Given the description of an element on the screen output the (x, y) to click on. 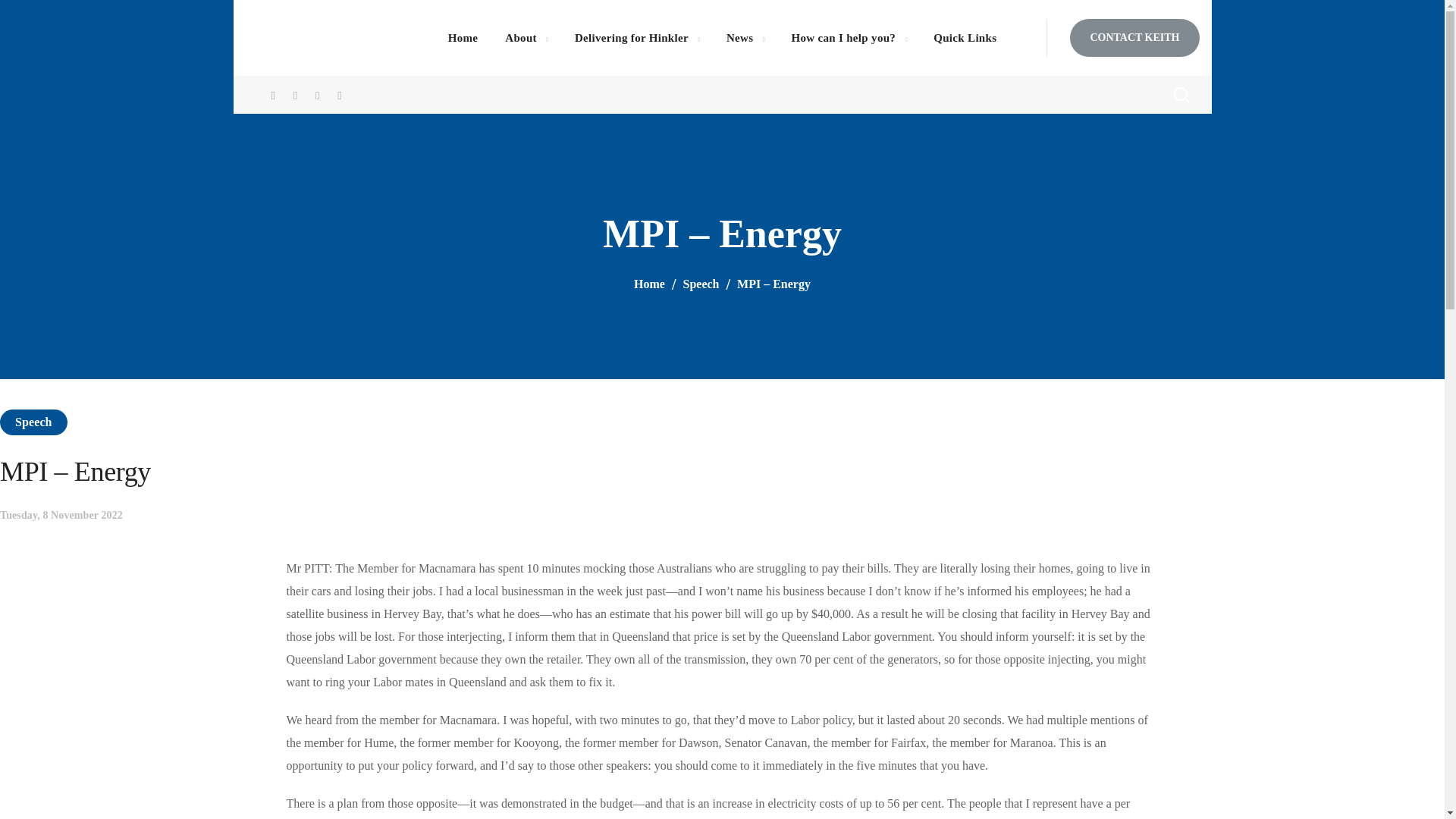
About (526, 38)
How can I help you? (848, 38)
CONTACT KEITH (1133, 37)
Quick Links (965, 38)
Delivering for Hinkler (636, 38)
Search (1141, 151)
Home (462, 38)
News (745, 38)
